Given the description of an element on the screen output the (x, y) to click on. 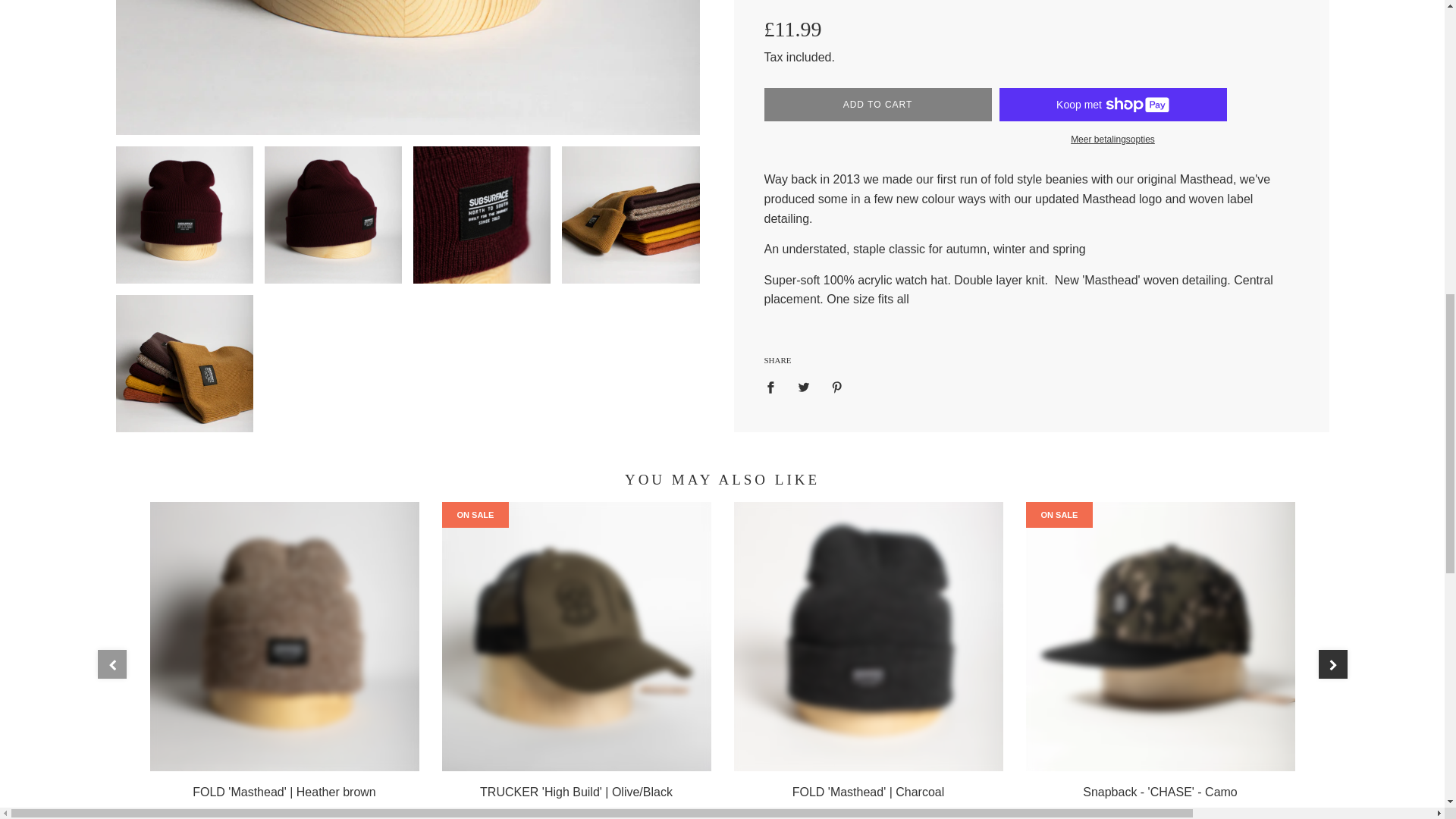
Snapback - 'CHASE' - Camo (1159, 636)
